Given the description of an element on the screen output the (x, y) to click on. 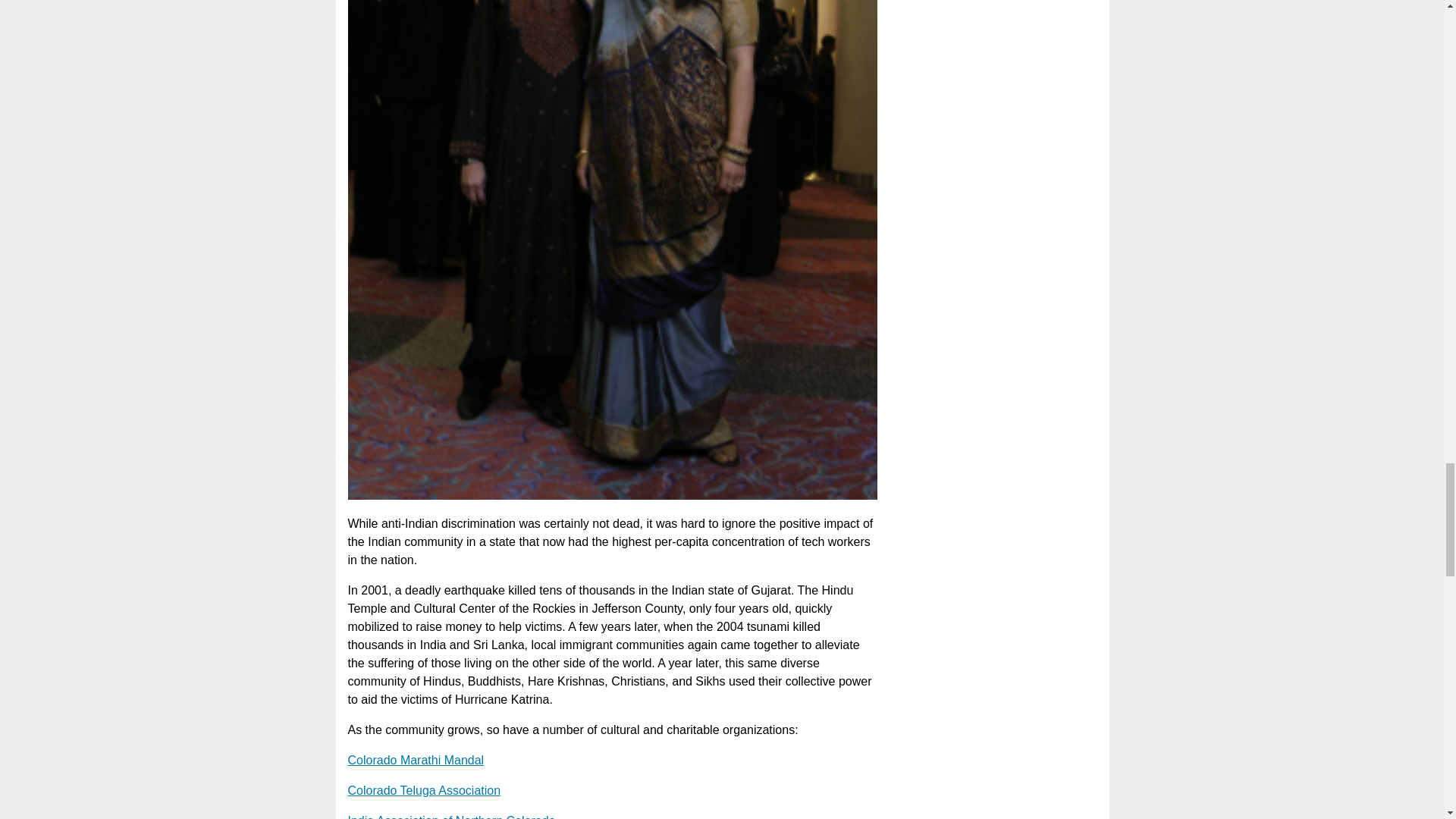
India Association of Northern Colorado (450, 816)
Colorado Teluga Association (423, 789)
Colorado Marathi Mandal (415, 759)
